Given the description of an element on the screen output the (x, y) to click on. 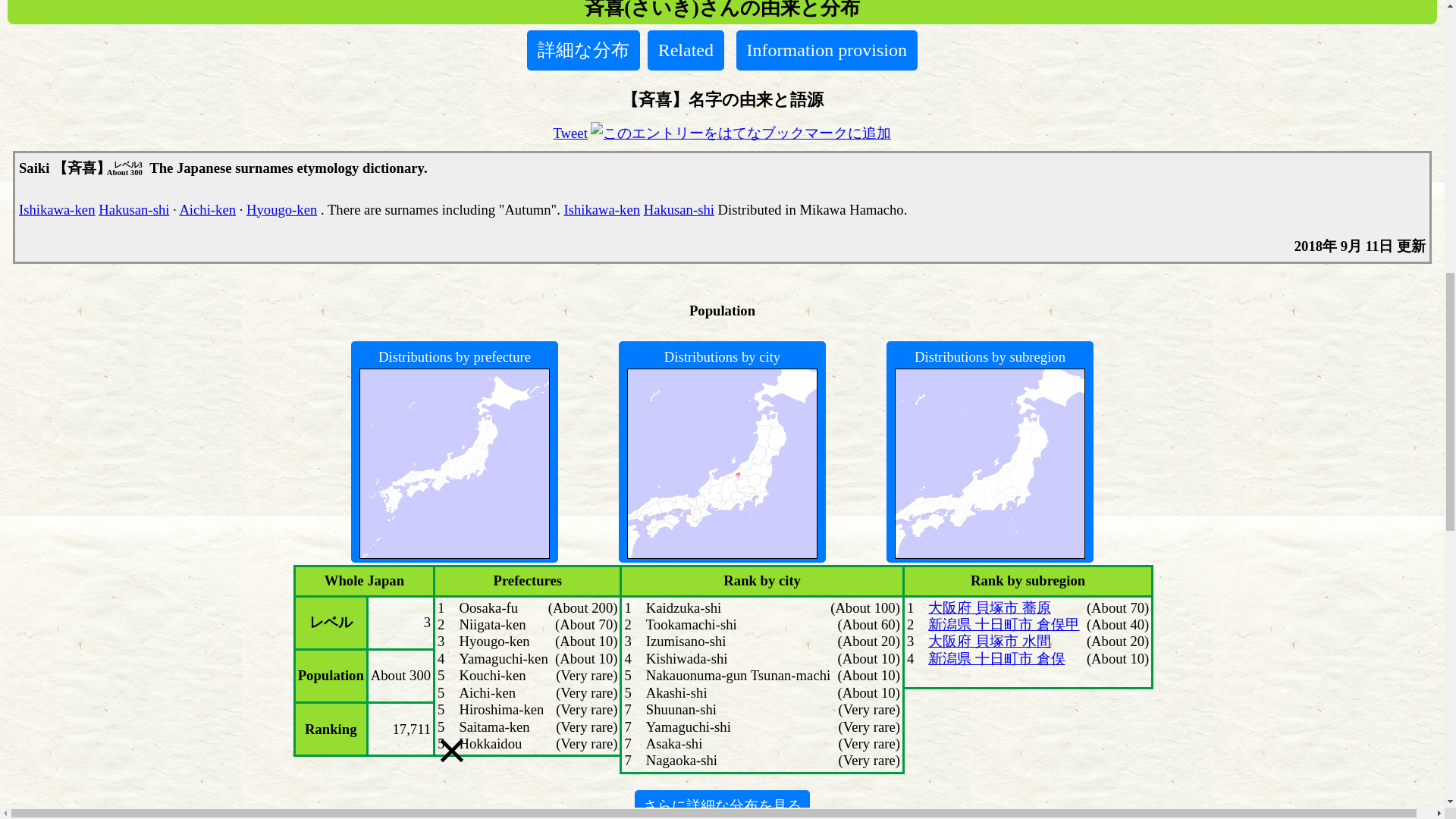
Aichi-ken (207, 209)
Ishikawa-ken (602, 209)
Information provision (826, 49)
Distributions by city (722, 452)
Distributions by subregion (990, 452)
Hyougo-ken (281, 209)
Related (685, 49)
Ishikawa-ken (57, 209)
Hakusan-shi (678, 209)
Tweet (570, 132)
Hakusan-shi (133, 209)
Distributions by prefecture (454, 452)
